Given the description of an element on the screen output the (x, y) to click on. 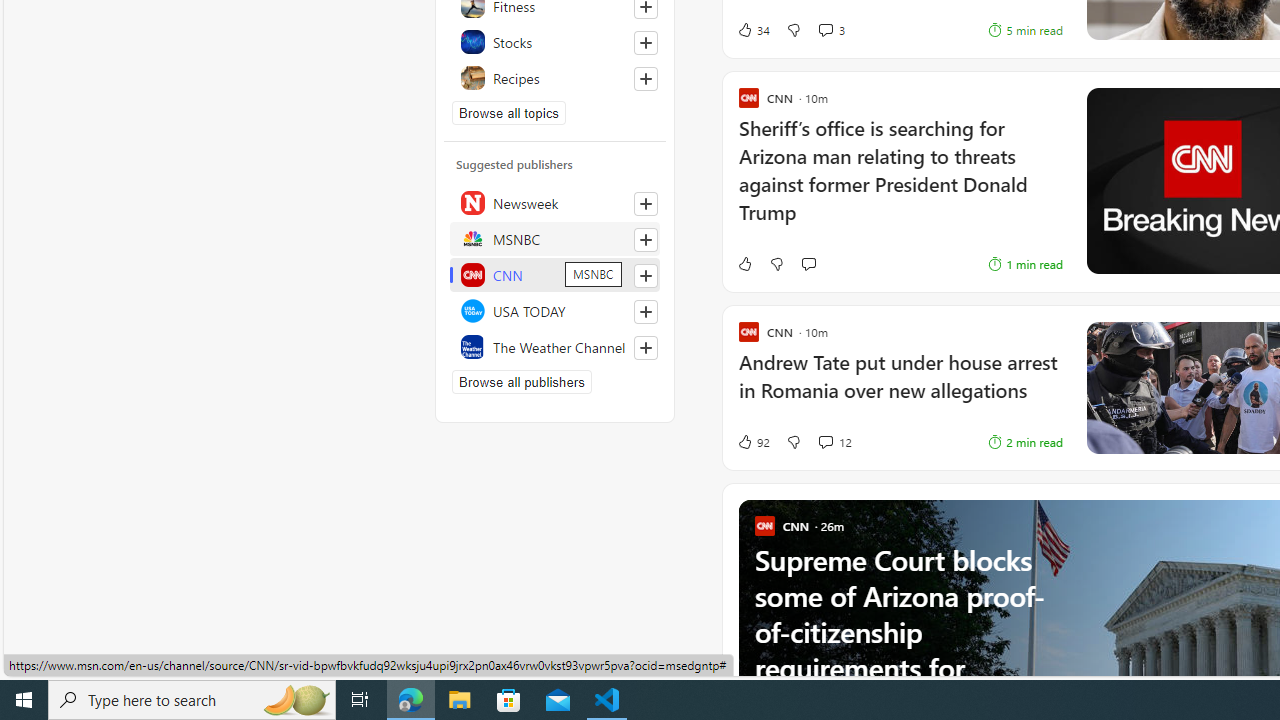
CNN (555, 274)
Newsweek (555, 202)
34 Like (753, 30)
Follow this source (645, 348)
View comments 12 Comment (834, 442)
Browse all topics (509, 112)
View comments 12 Comment (825, 442)
Recipes (555, 78)
Follow this source (645, 348)
